Given the description of an element on the screen output the (x, y) to click on. 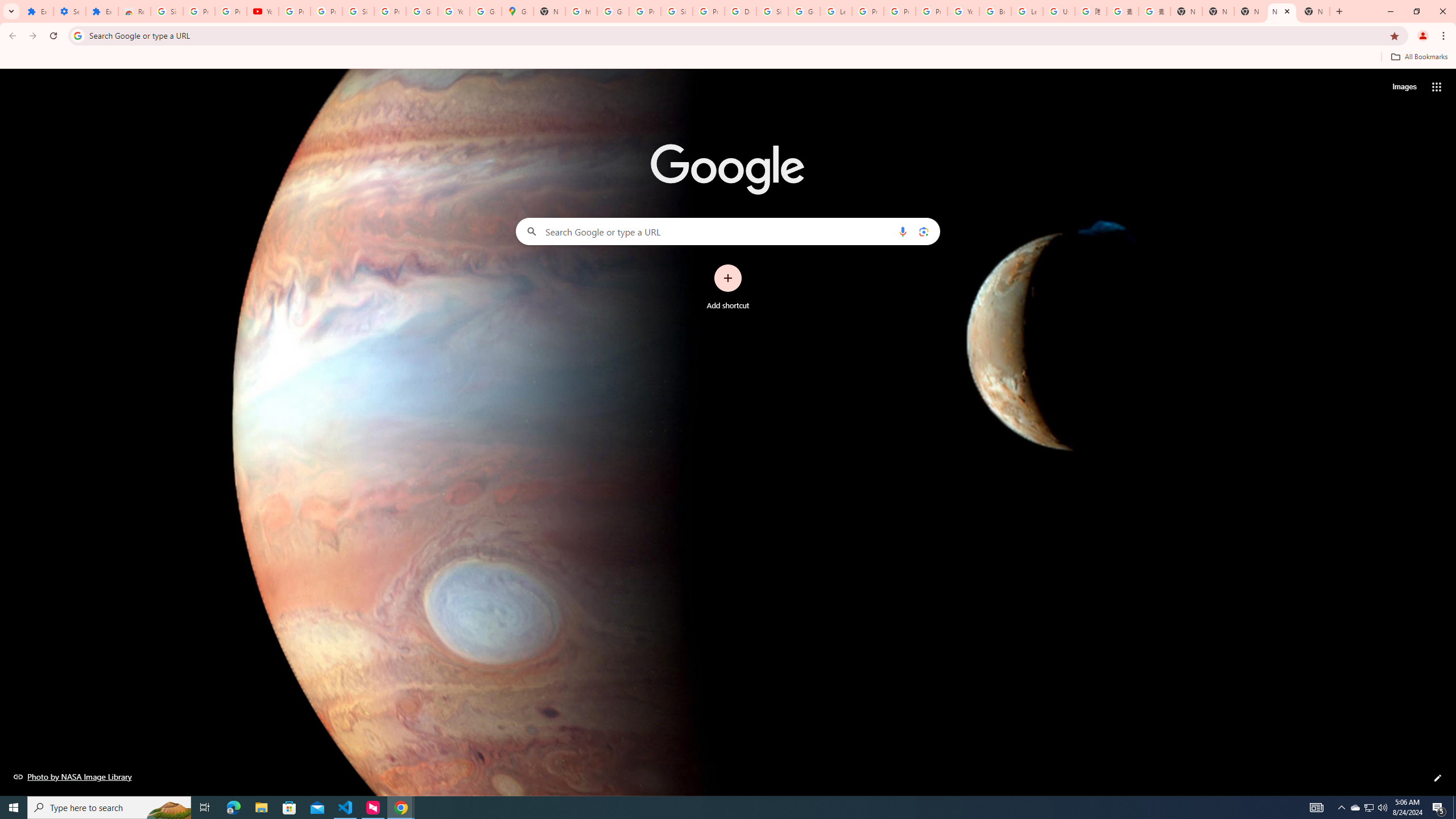
YouTube (262, 11)
New Tab (1313, 11)
Google Account (421, 11)
Search Google or type a URL (727, 230)
https://scholar.google.com/ (581, 11)
Sign in - Google Accounts (772, 11)
